Given the description of an element on the screen output the (x, y) to click on. 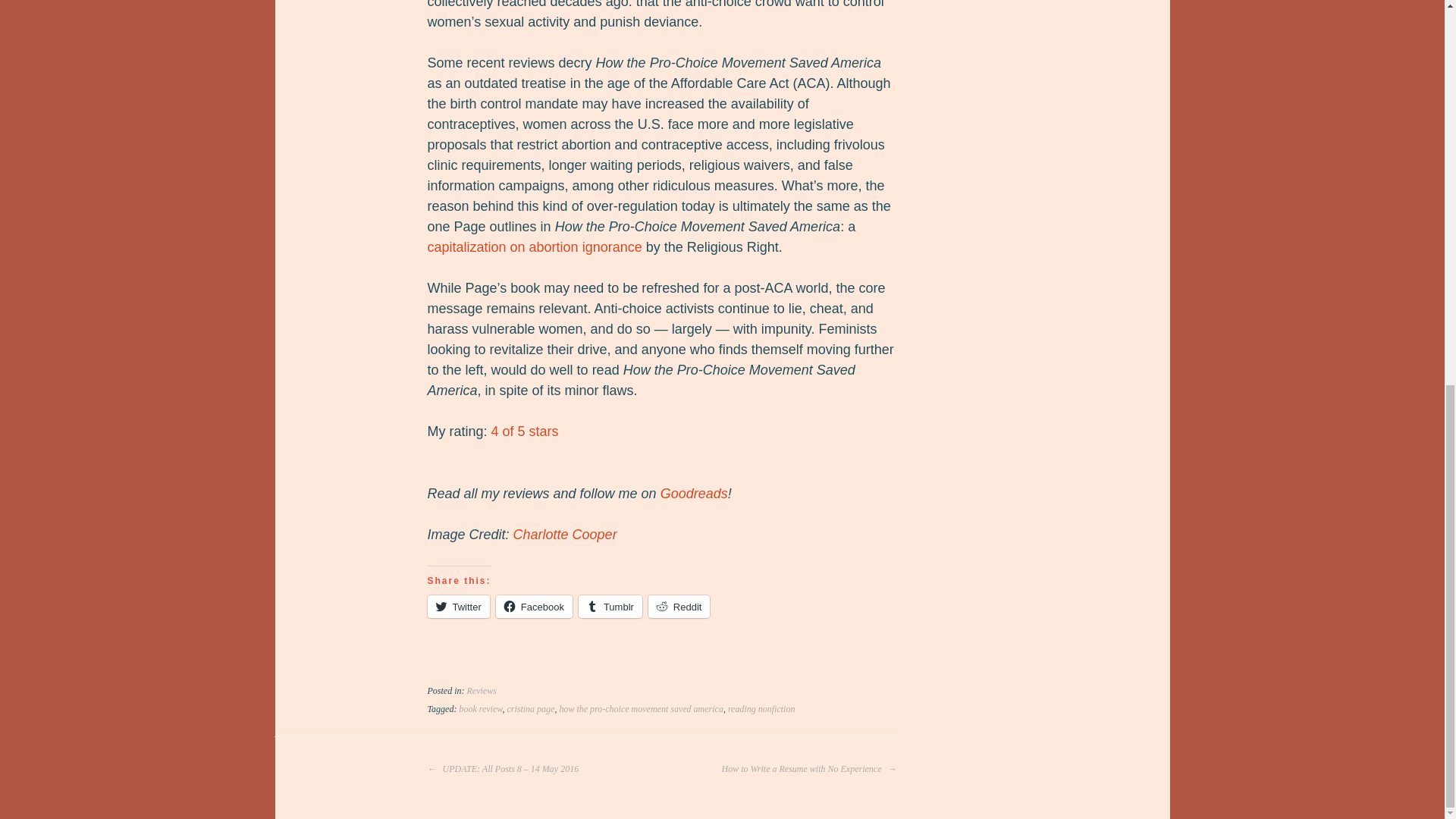
Reviews (481, 690)
Click to share on Tumblr (610, 606)
Tumblr (610, 606)
Twitter (458, 606)
Facebook (534, 606)
capitalization on abortion ignorance (535, 246)
Click to share on Reddit (678, 606)
Reddit (678, 606)
Charlotte Cooper (565, 534)
Click to share on Twitter (458, 606)
